Given the description of an element on the screen output the (x, y) to click on. 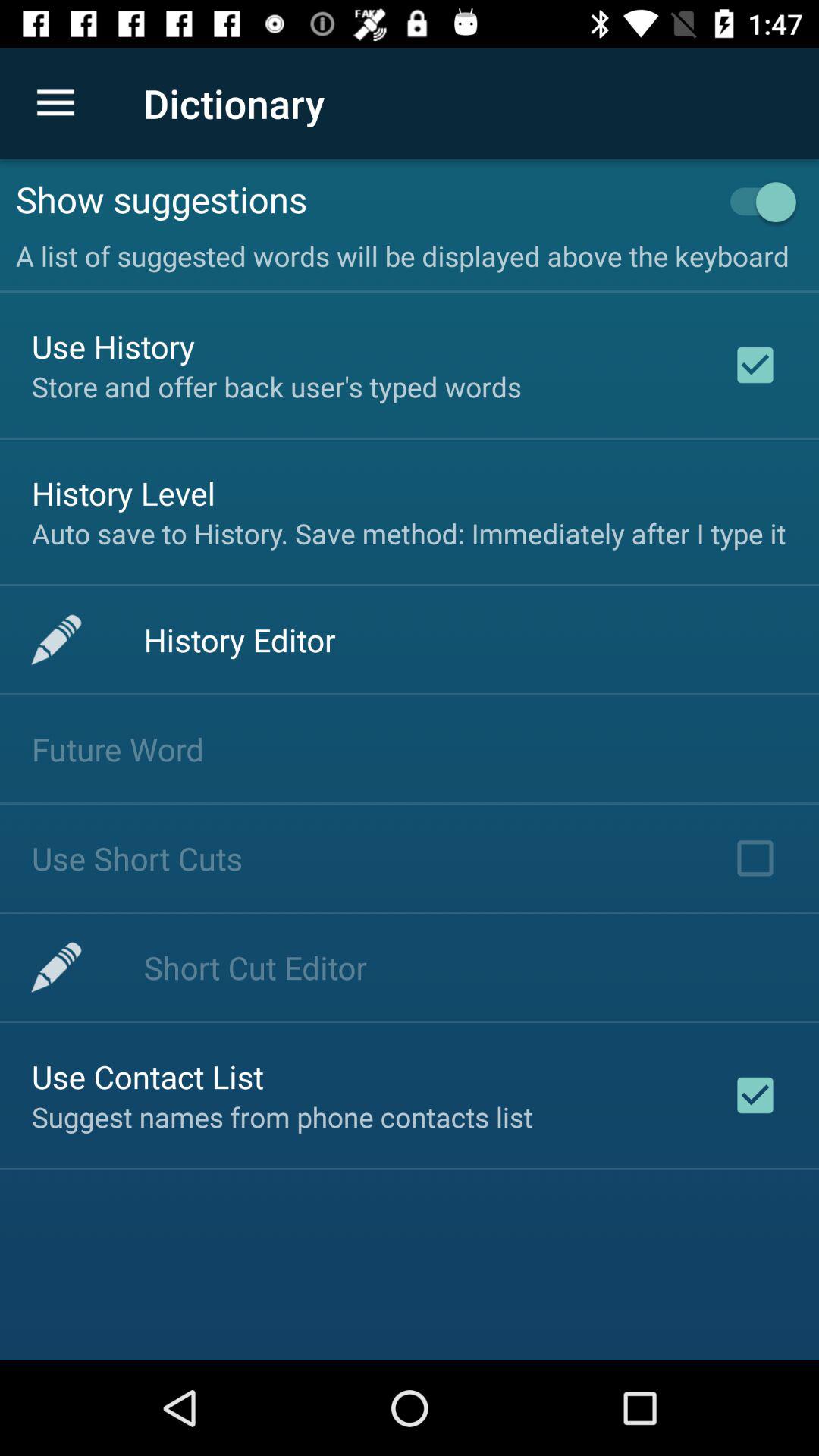
choose auto save to at the center (408, 533)
